Given the description of an element on the screen output the (x, y) to click on. 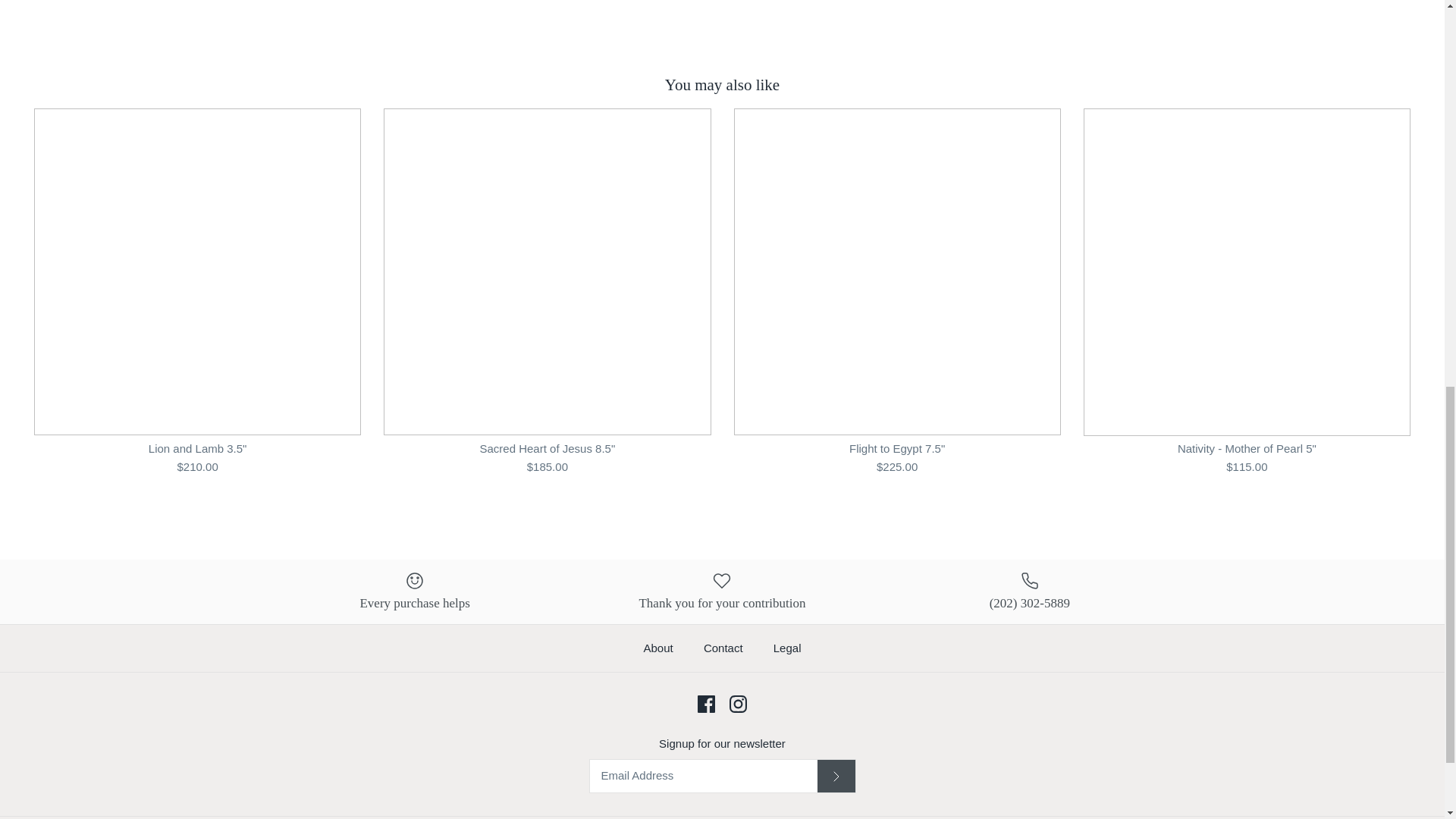
Instagram (737, 703)
Instagram (737, 703)
Facebook (705, 703)
Facebook (705, 703)
